Given the description of an element on the screen output the (x, y) to click on. 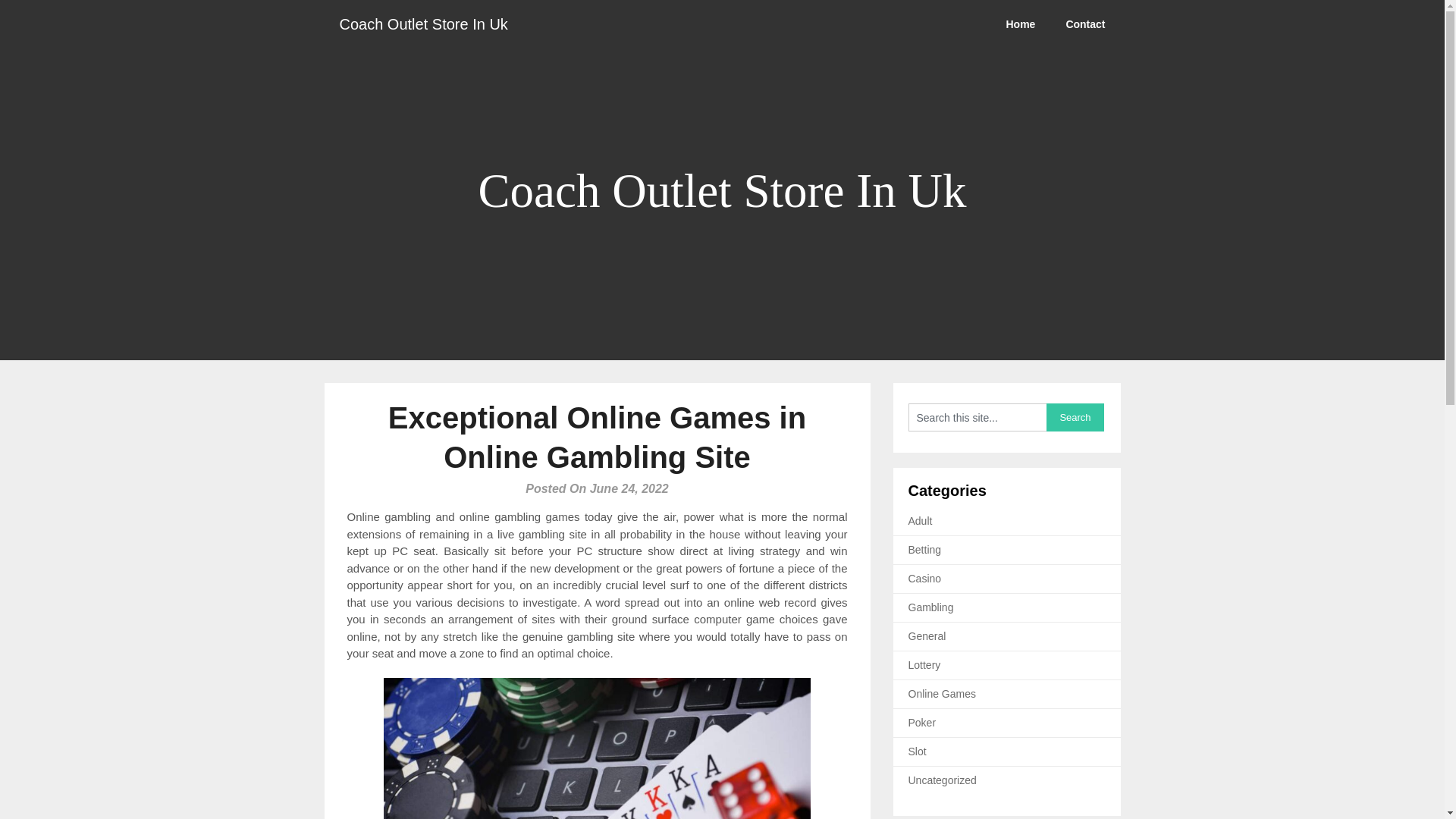
Search (1075, 417)
Lottery (924, 664)
General (927, 635)
Adult (920, 521)
Slot (917, 751)
Gambling (930, 607)
Uncategorized (942, 779)
Coach Outlet Store In Uk (423, 24)
Home (1019, 24)
Search this site... (977, 417)
